Given the description of an element on the screen output the (x, y) to click on. 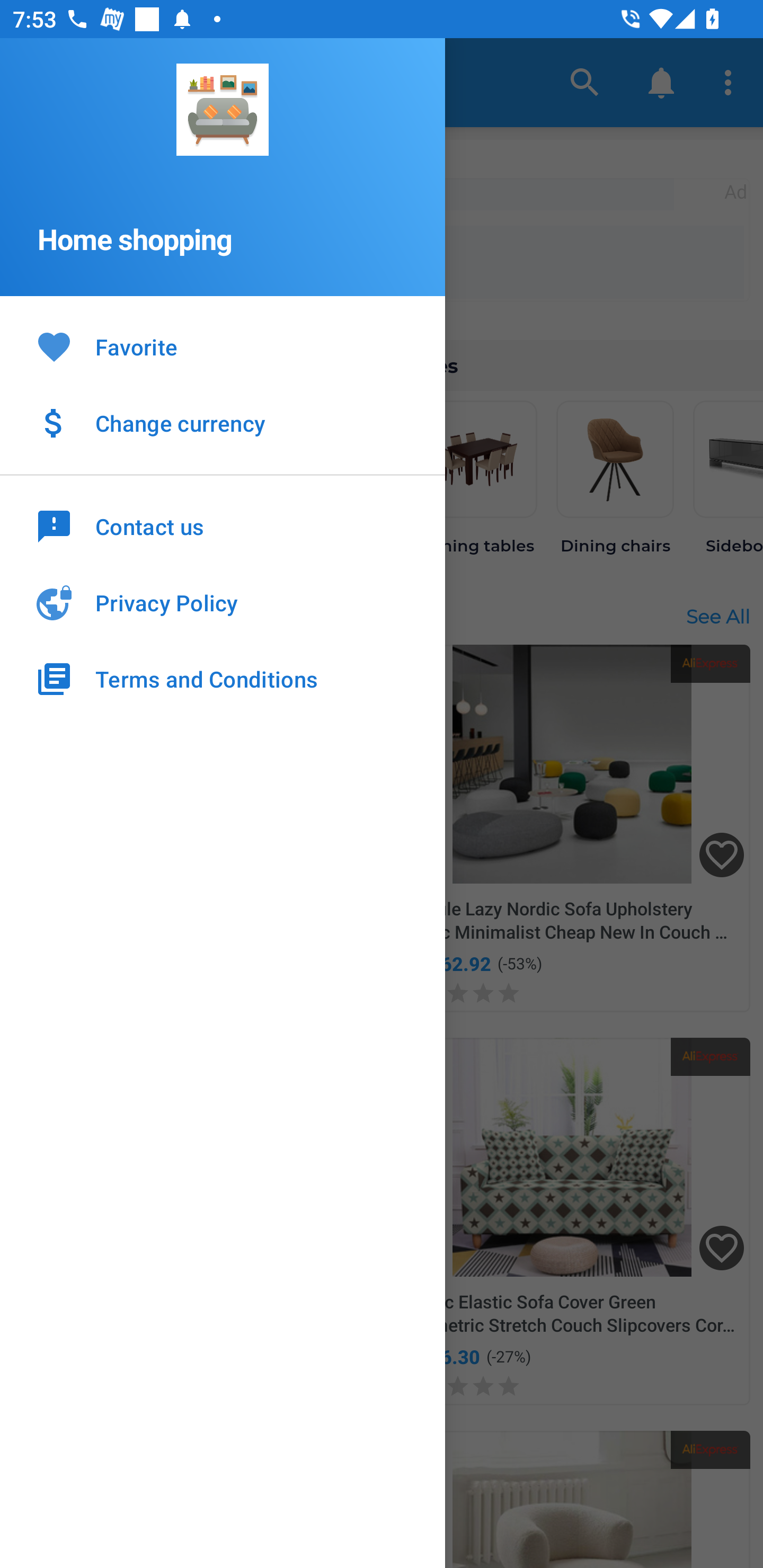
Favorite (222, 346)
Change currency (222, 422)
Contact us (222, 525)
Privacy Policy (222, 602)
Terms and Conditions (222, 678)
